Given the description of an element on the screen output the (x, y) to click on. 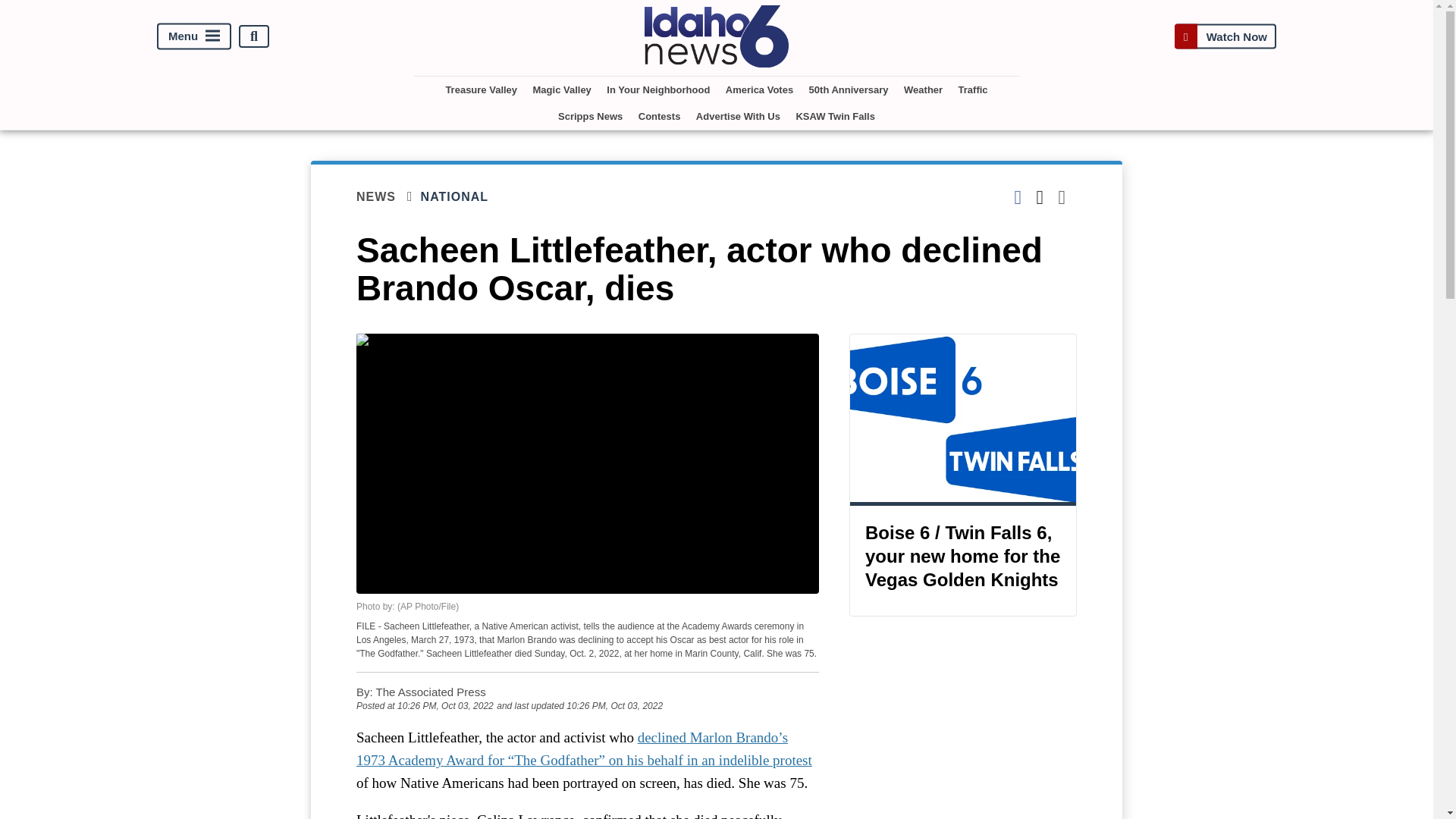
Watch Now (1224, 36)
Menu (194, 36)
